Given the description of an element on the screen output the (x, y) to click on. 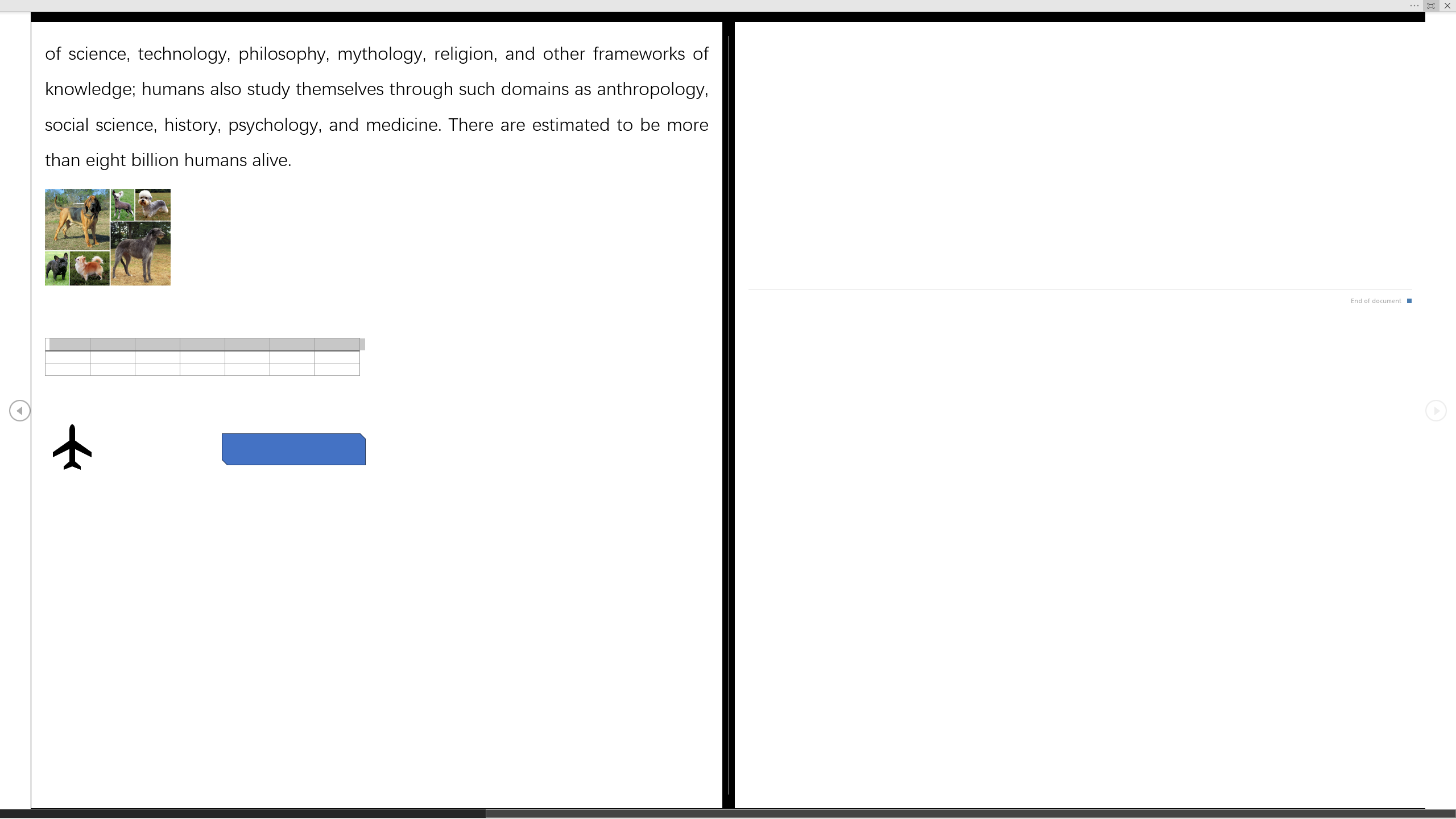
Always Show Reading Toolbar (1430, 5)
Morphological variation in six dogs (106, 237)
Rectangle: Diagonal Corners Snipped 2 (293, 449)
Class: NetUIAnchor (728, 5)
Show the Ribbon (711, 5)
Airplane with solid fill (71, 446)
Page left (243, 813)
